Given the description of an element on the screen output the (x, y) to click on. 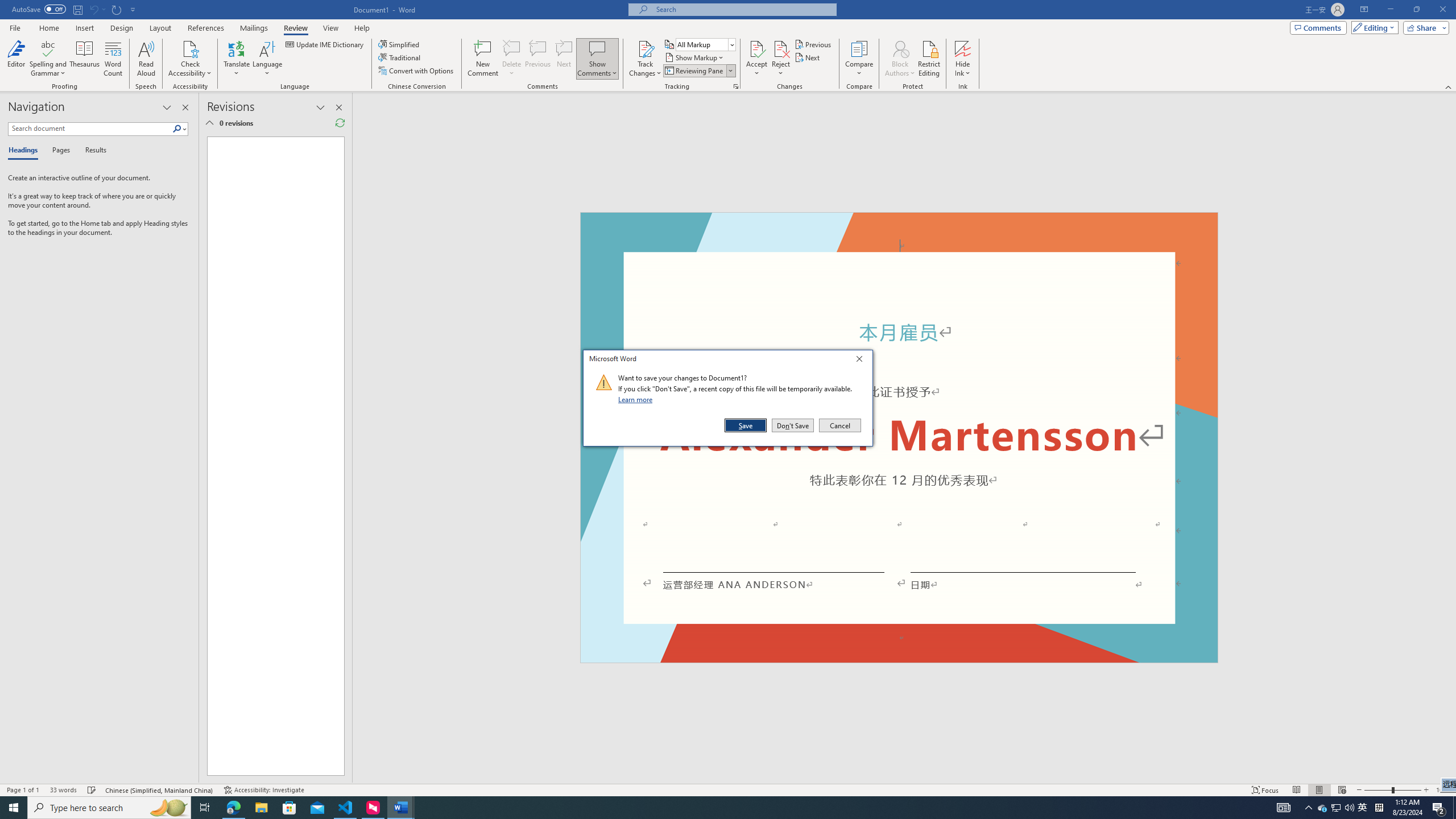
System (6, 6)
Update IME Dictionary... (324, 44)
Type here to search (108, 807)
Traditional (400, 56)
Hide Ink (962, 48)
Insert (83, 28)
Block Authors (900, 58)
Language (267, 58)
Restrict Editing (929, 58)
Print Layout (1318, 790)
AutomationID: 4105 (1283, 807)
Spelling and Grammar (48, 58)
Delete (1362, 807)
